Given the description of an element on the screen output the (x, y) to click on. 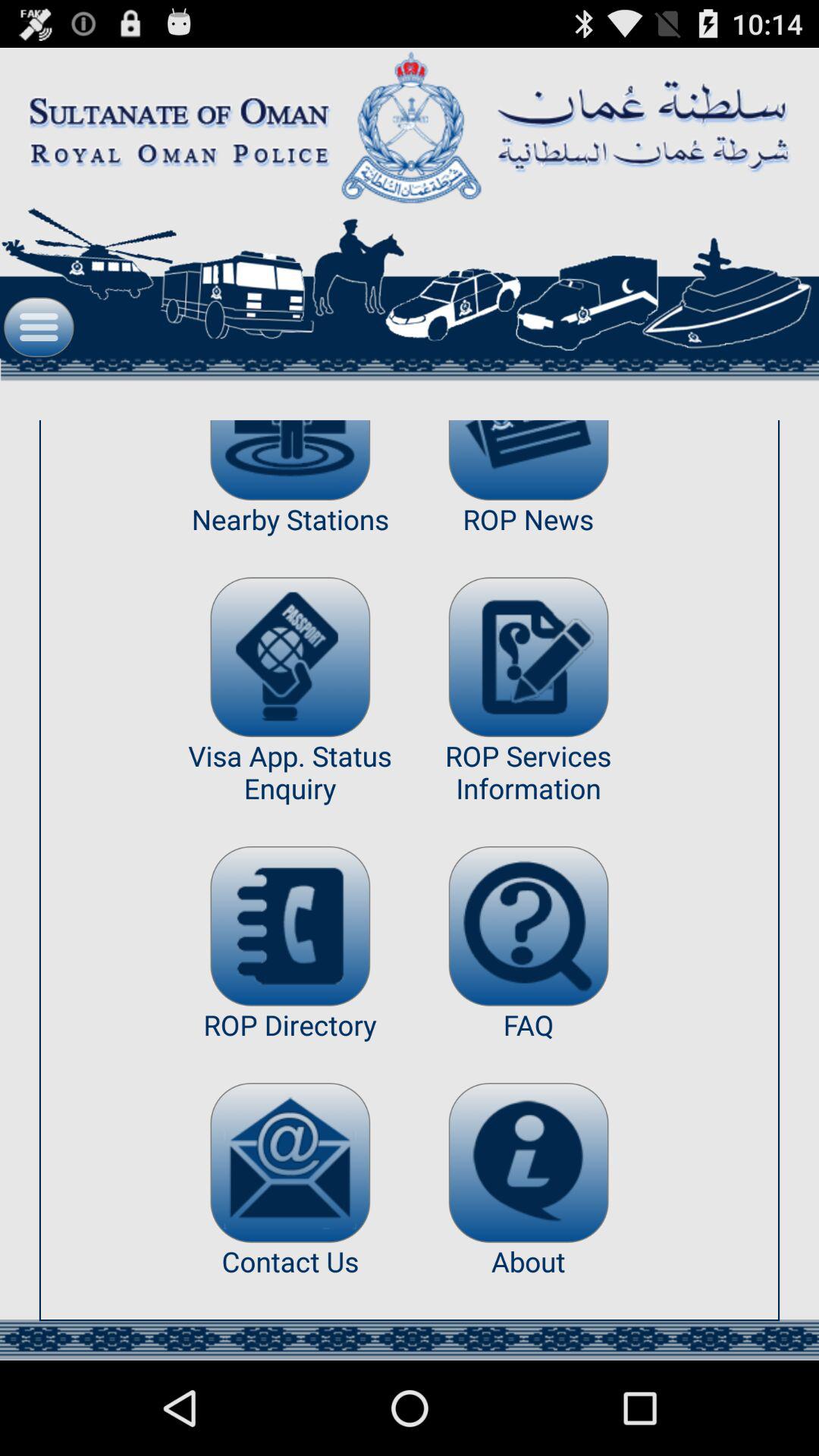
tap item above the nearby stations item (290, 460)
